Given the description of an element on the screen output the (x, y) to click on. 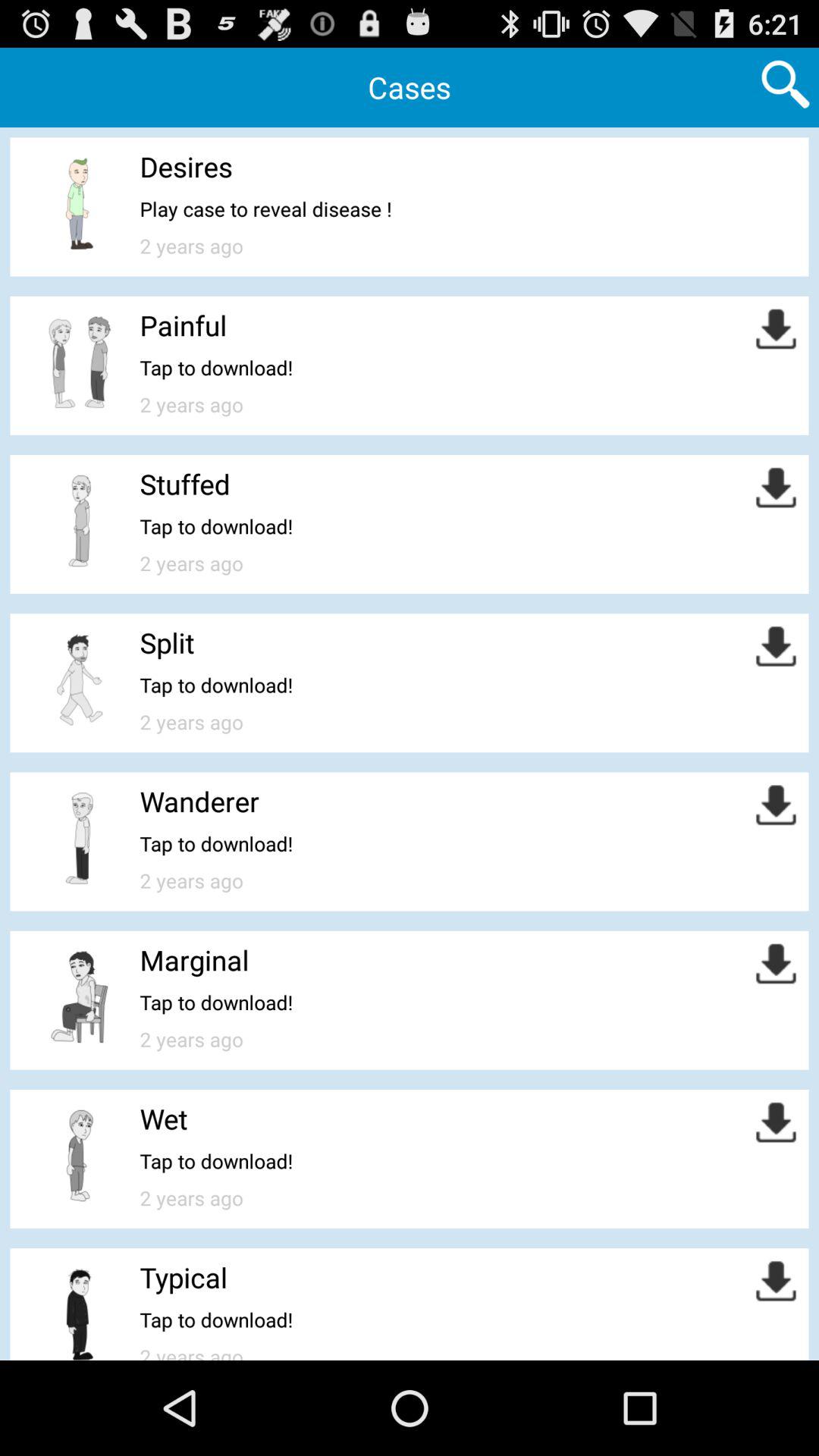
flip until split (166, 642)
